Given the description of an element on the screen output the (x, y) to click on. 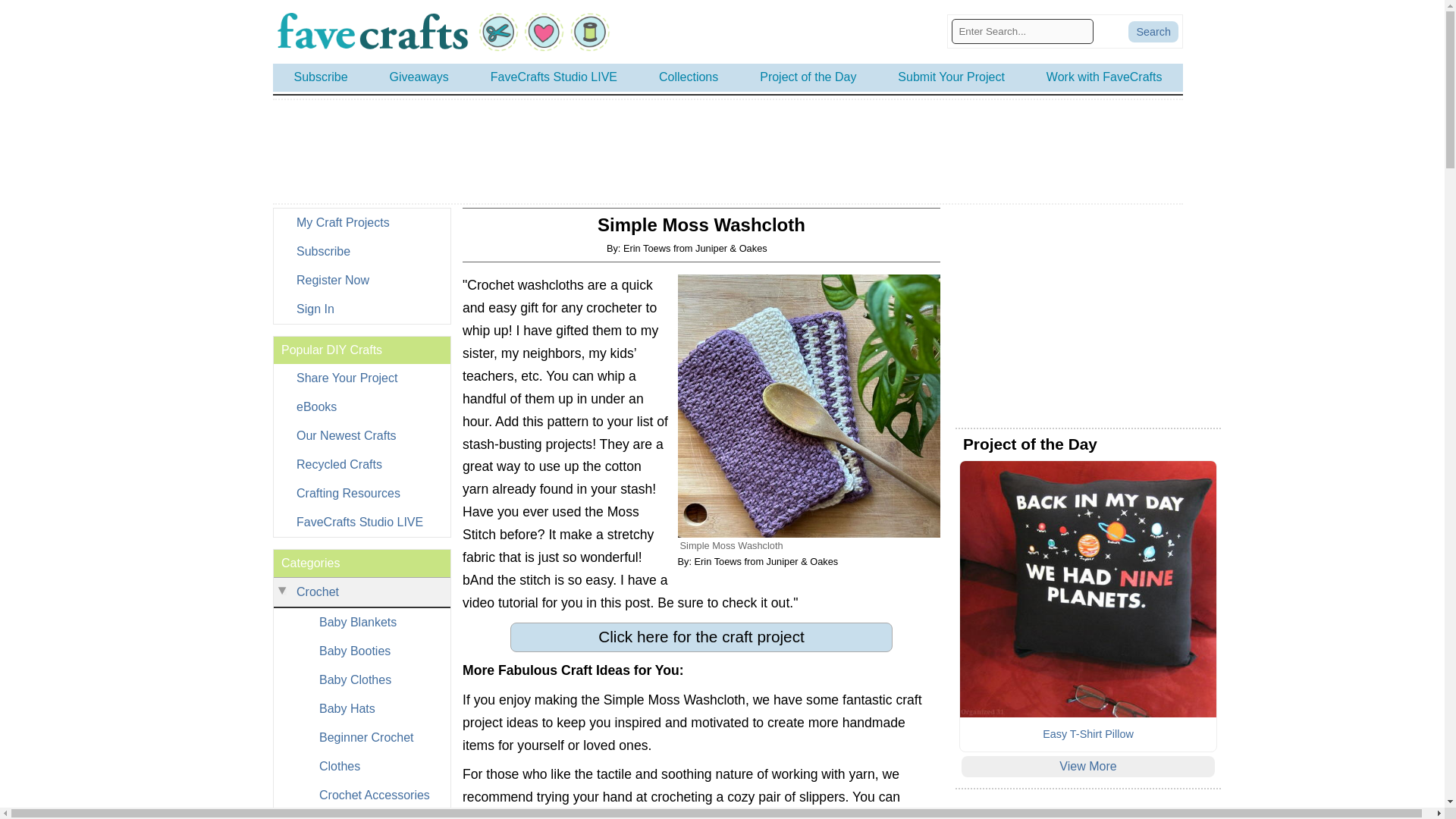
My Craft Projects (361, 222)
Search (1152, 31)
Register Now (361, 280)
Sign In (361, 308)
Simple Moss Washcloth (809, 405)
Subscribe (361, 251)
